Given the description of an element on the screen output the (x, y) to click on. 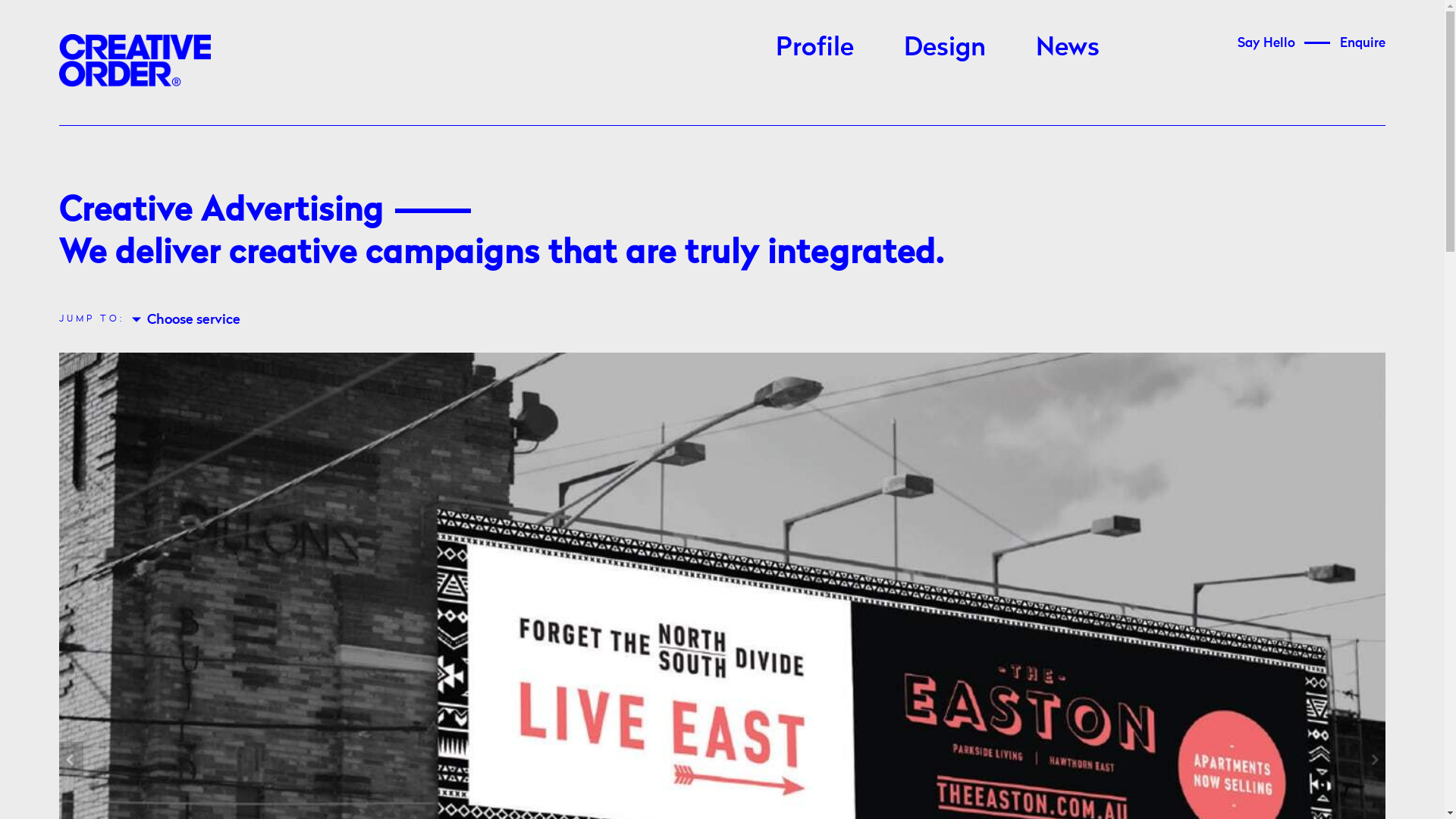
Say Hello Element type: text (1266, 42)
News Element type: text (1067, 46)
Enquire Element type: text (1362, 42)
Design Element type: text (944, 46)
Creative Order Element type: hover (134, 60)
Profile Element type: text (814, 46)
